Given the description of an element on the screen output the (x, y) to click on. 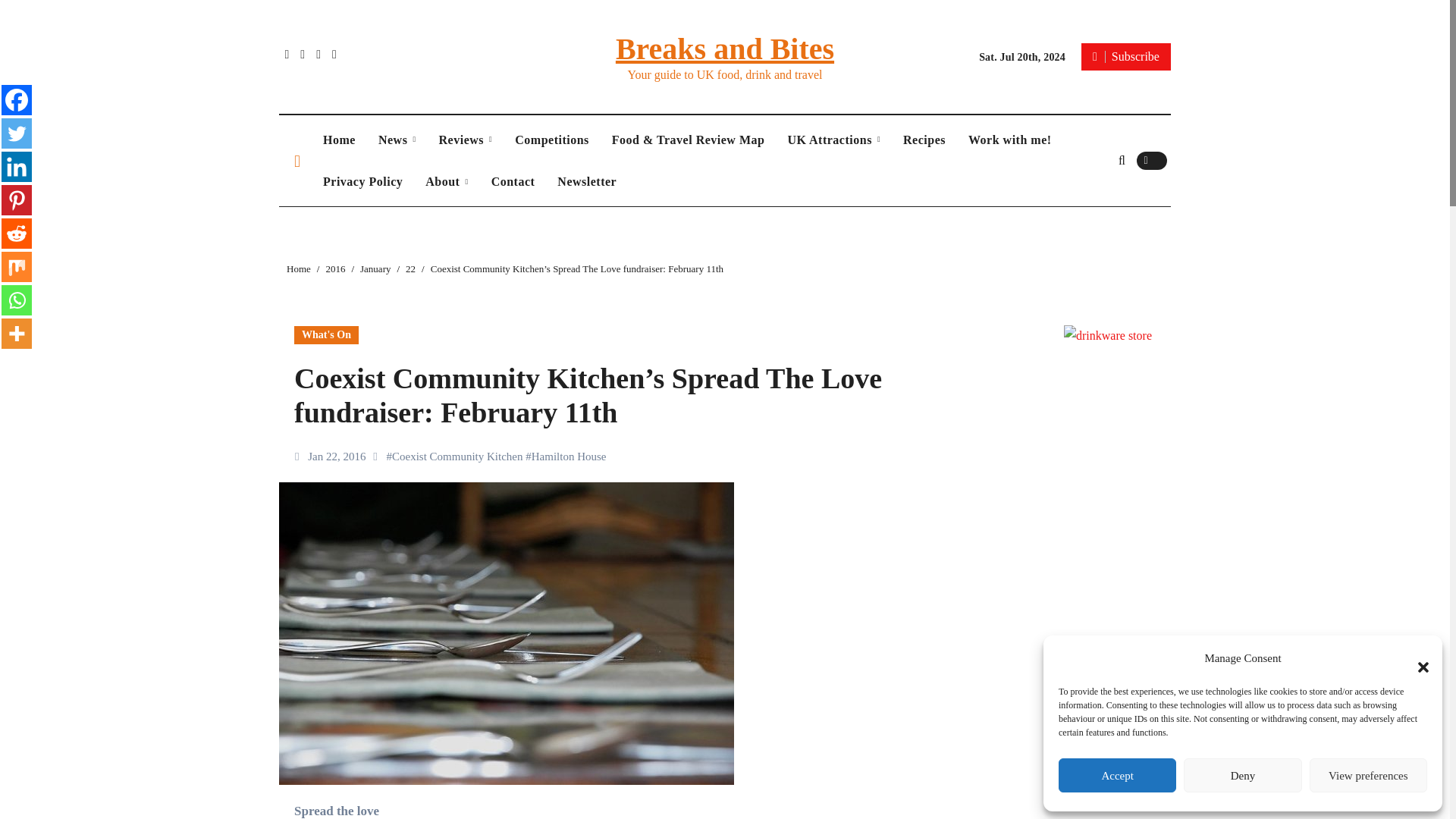
Competitions (551, 139)
Reviews (465, 139)
View preferences (1367, 775)
UK Attractions (833, 139)
Home (338, 139)
Subscribe (1125, 56)
Accept (1117, 775)
Breaks and Bites (724, 48)
News (397, 139)
Deny (1242, 775)
News (397, 139)
Home (338, 139)
